Given the description of an element on the screen output the (x, y) to click on. 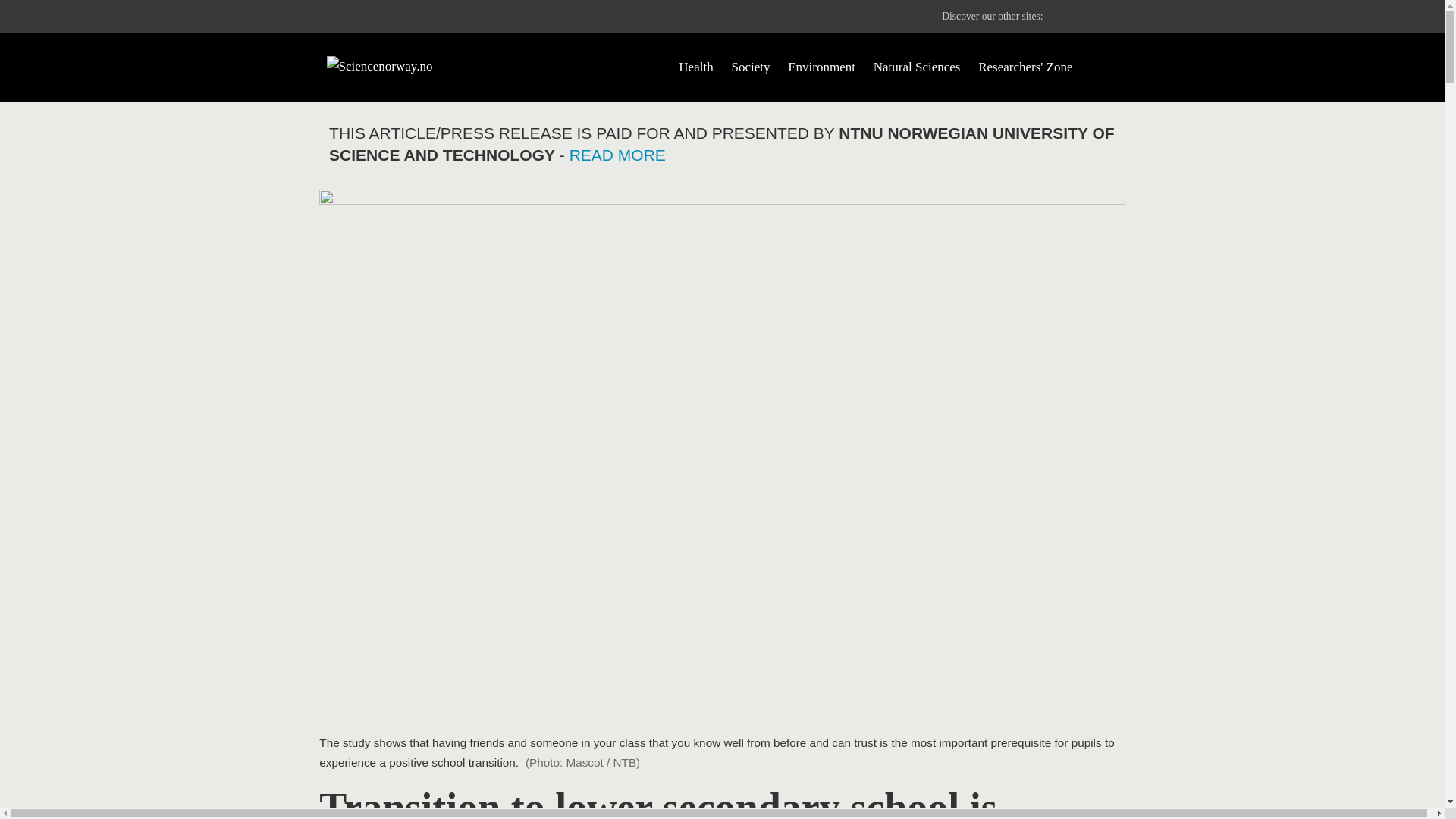
Health (695, 66)
Researchers' Zone (1024, 66)
READ MORE (617, 154)
Society (750, 66)
Environment (821, 66)
Natural Sciences (916, 66)
